Given the description of an element on the screen output the (x, y) to click on. 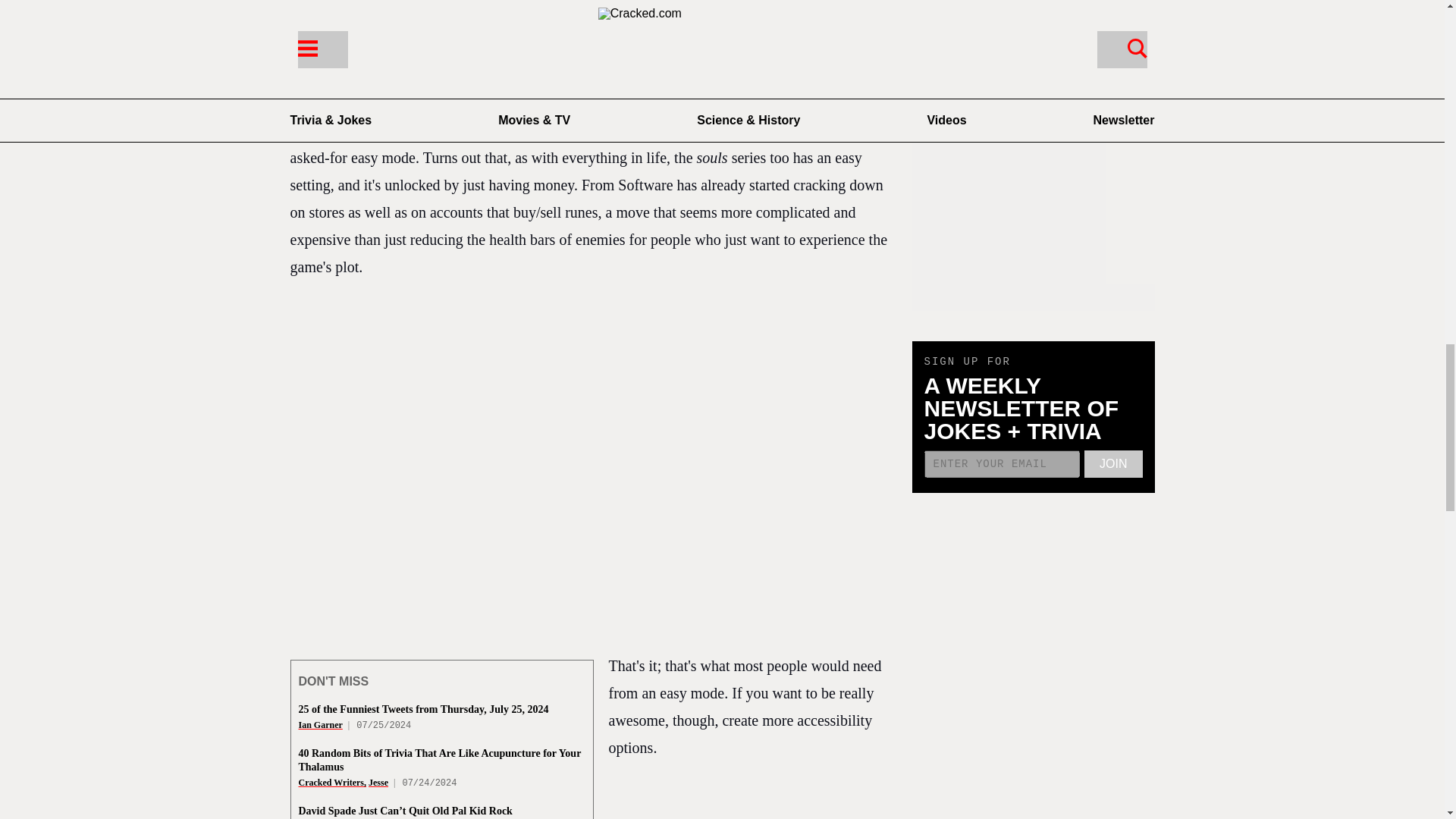
Cracked Writers, (332, 782)
25 of the Funniest Tweets from Thursday, July 25, 2024 (423, 708)
Ian Garner (320, 724)
